Given the description of an element on the screen output the (x, y) to click on. 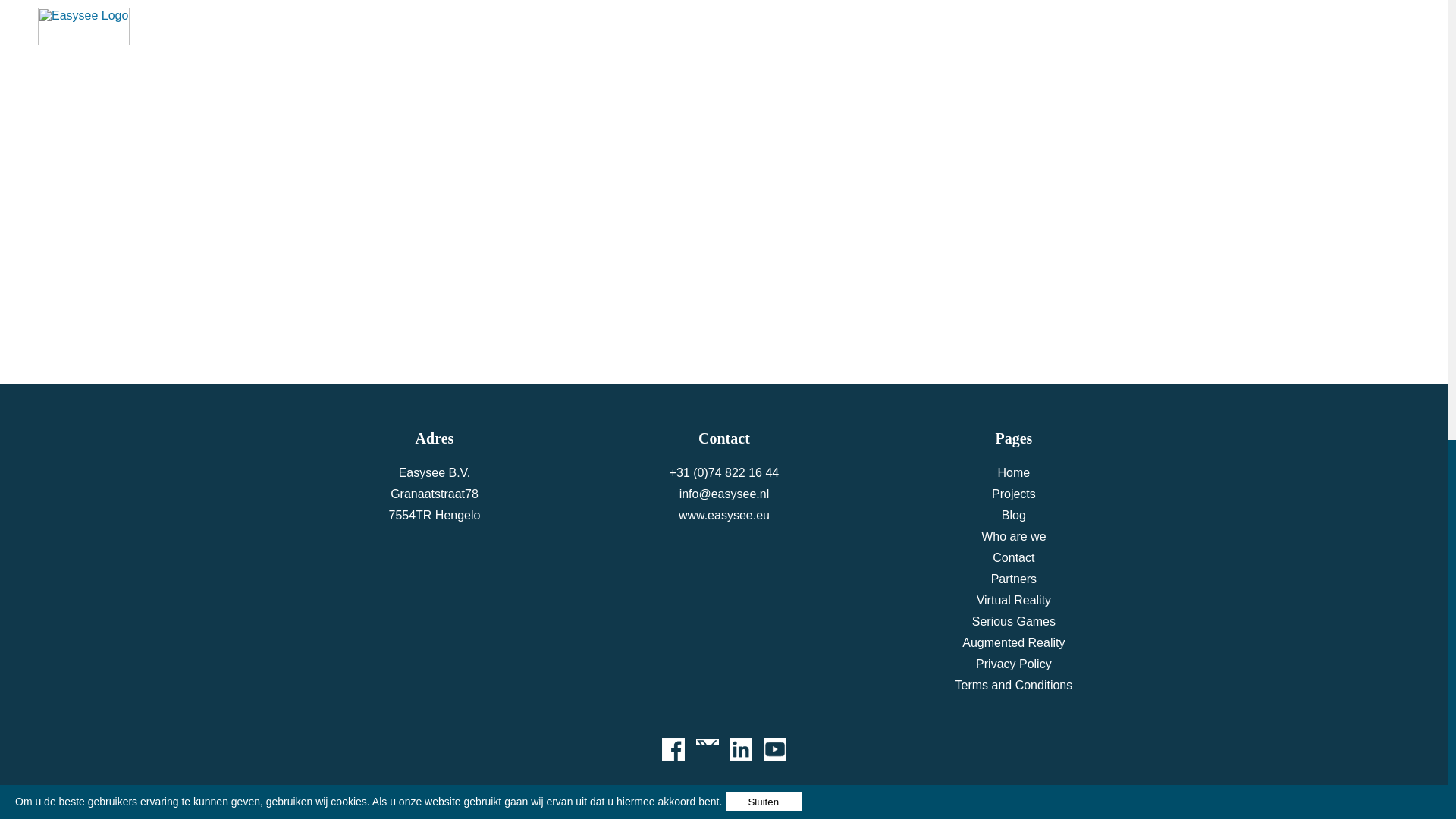
Augmented Reality (1013, 642)
Who are we (1013, 535)
Projects (1013, 493)
Virtual Reality (1013, 599)
Privacy Policy (1013, 663)
www.easysee.eu (724, 514)
Contact (1012, 557)
Home (1013, 472)
Blog (1013, 514)
Serious Games (1013, 621)
